Given the description of an element on the screen output the (x, y) to click on. 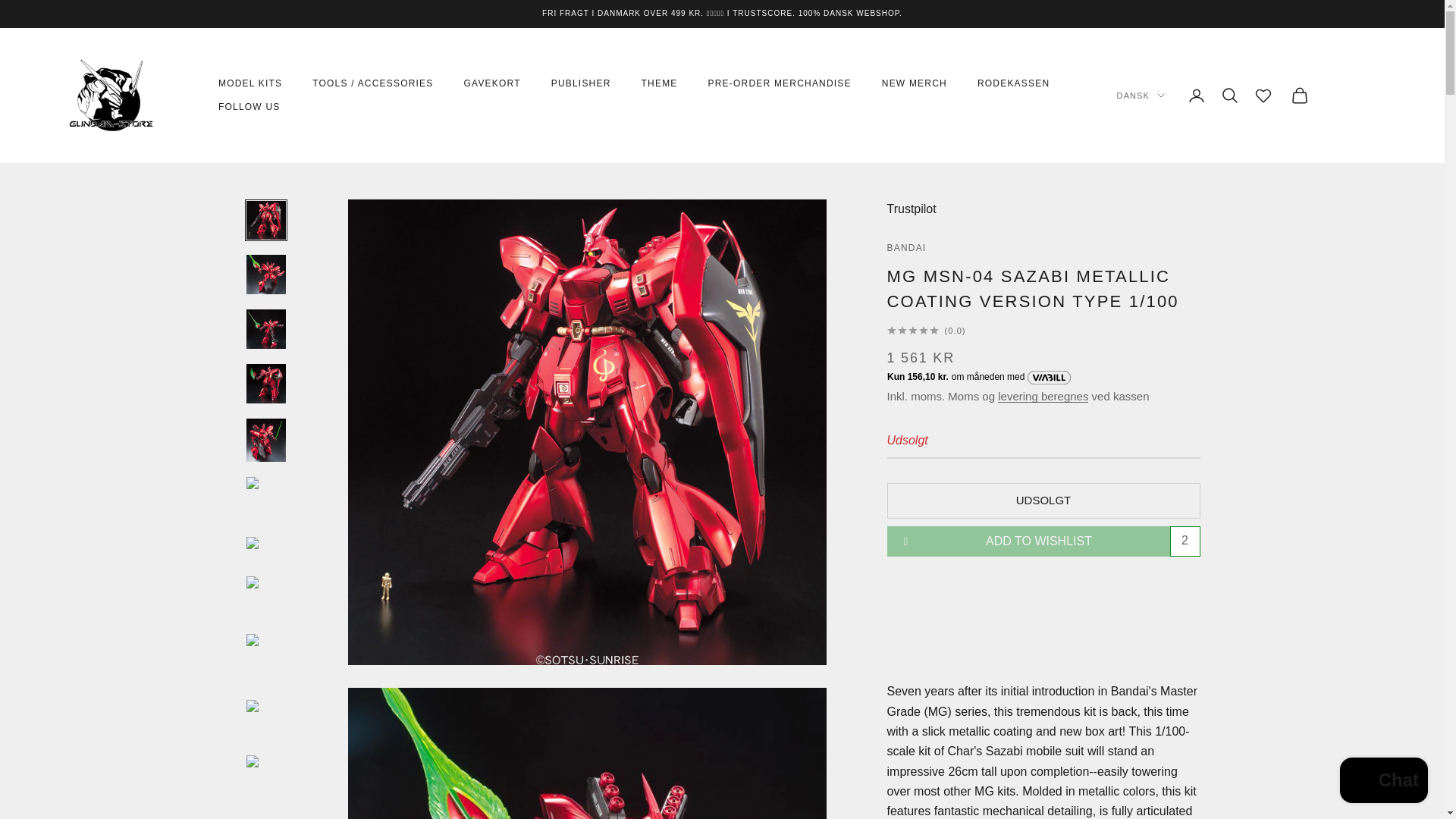
gundam-store.dk (111, 95)
Shopify-webshopchat (1383, 781)
Ingen anmeldelser (1042, 329)
ViaBill Pricetag (986, 377)
